Given the description of an element on the screen output the (x, y) to click on. 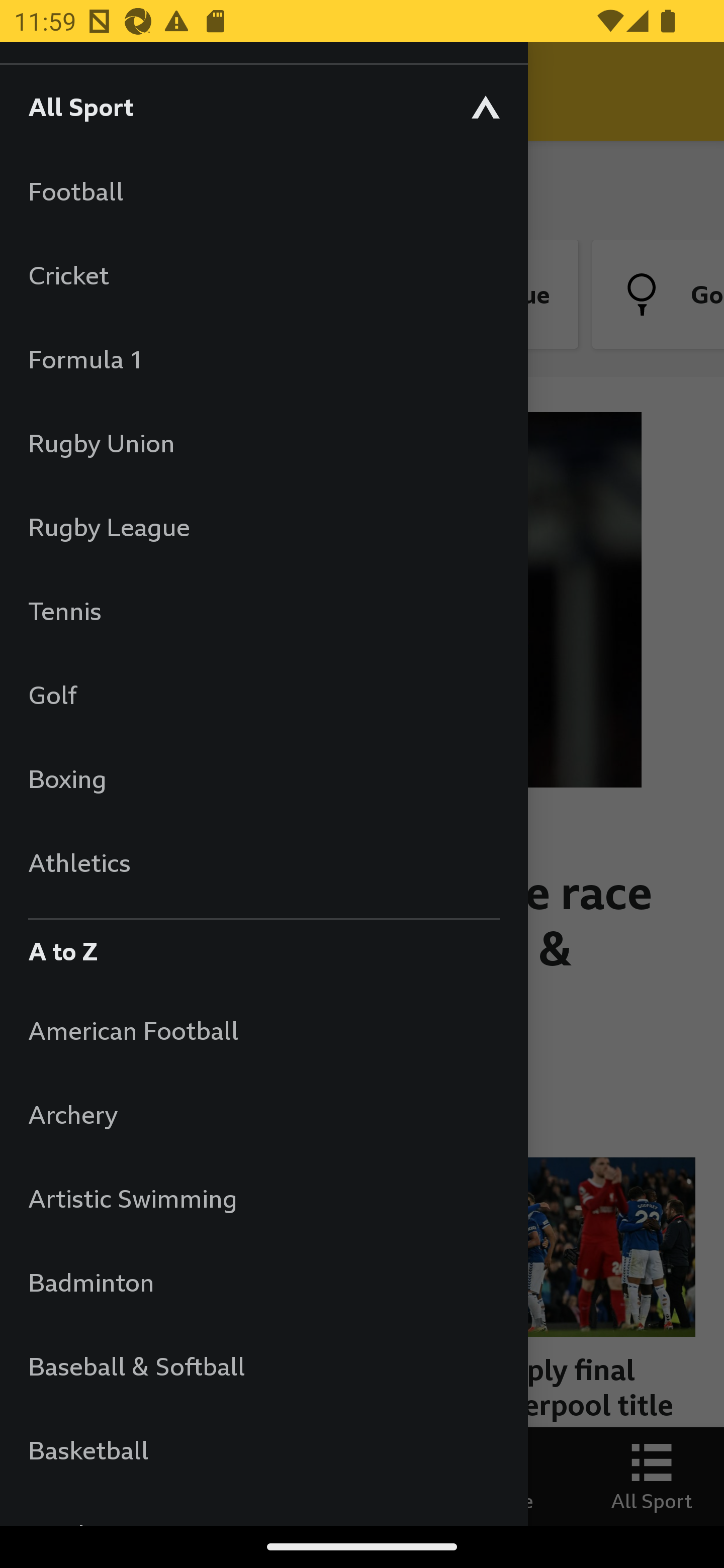
All Sport (263, 105)
Football (263, 190)
Cricket (263, 274)
Formula 1 (263, 358)
Rugby Union (263, 441)
Rugby League (263, 526)
Tennis (263, 609)
Golf (263, 694)
Boxing (263, 778)
Athletics (263, 862)
A to Z (263, 945)
American Football (263, 1029)
Archery (263, 1114)
Artistic Swimming (263, 1197)
Badminton (263, 1282)
Baseball & Softball (263, 1365)
Basketball (263, 1450)
